Given the description of an element on the screen output the (x, y) to click on. 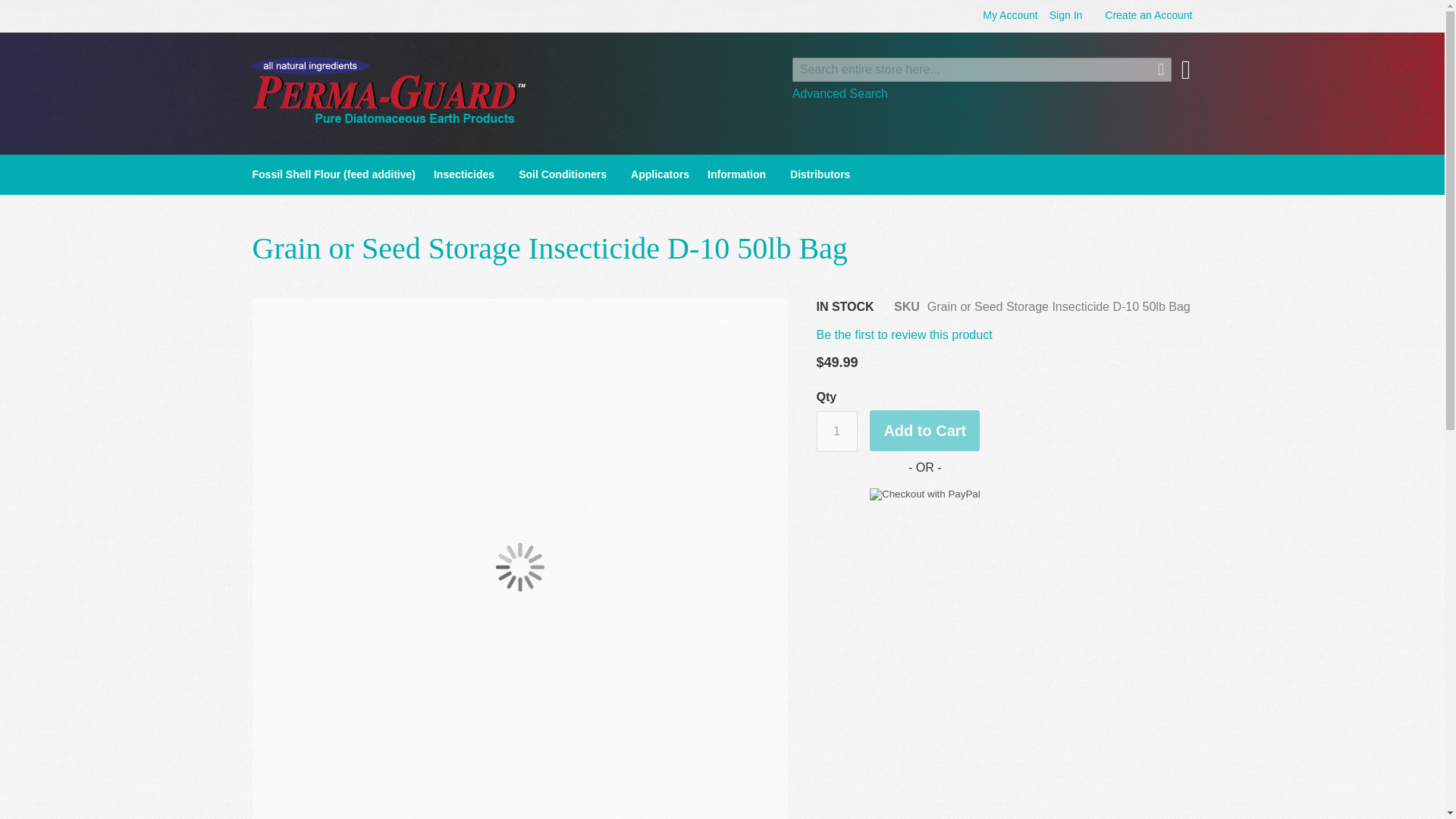
Advanced Search (840, 92)
1 (836, 431)
Add to Cart (924, 430)
Checkout with PayPal (924, 494)
Magento Commerce (387, 90)
Qty (836, 431)
Distributors (819, 174)
Sign In (1066, 15)
Soil Conditioners (565, 174)
Information (739, 174)
